Given the description of an element on the screen output the (x, y) to click on. 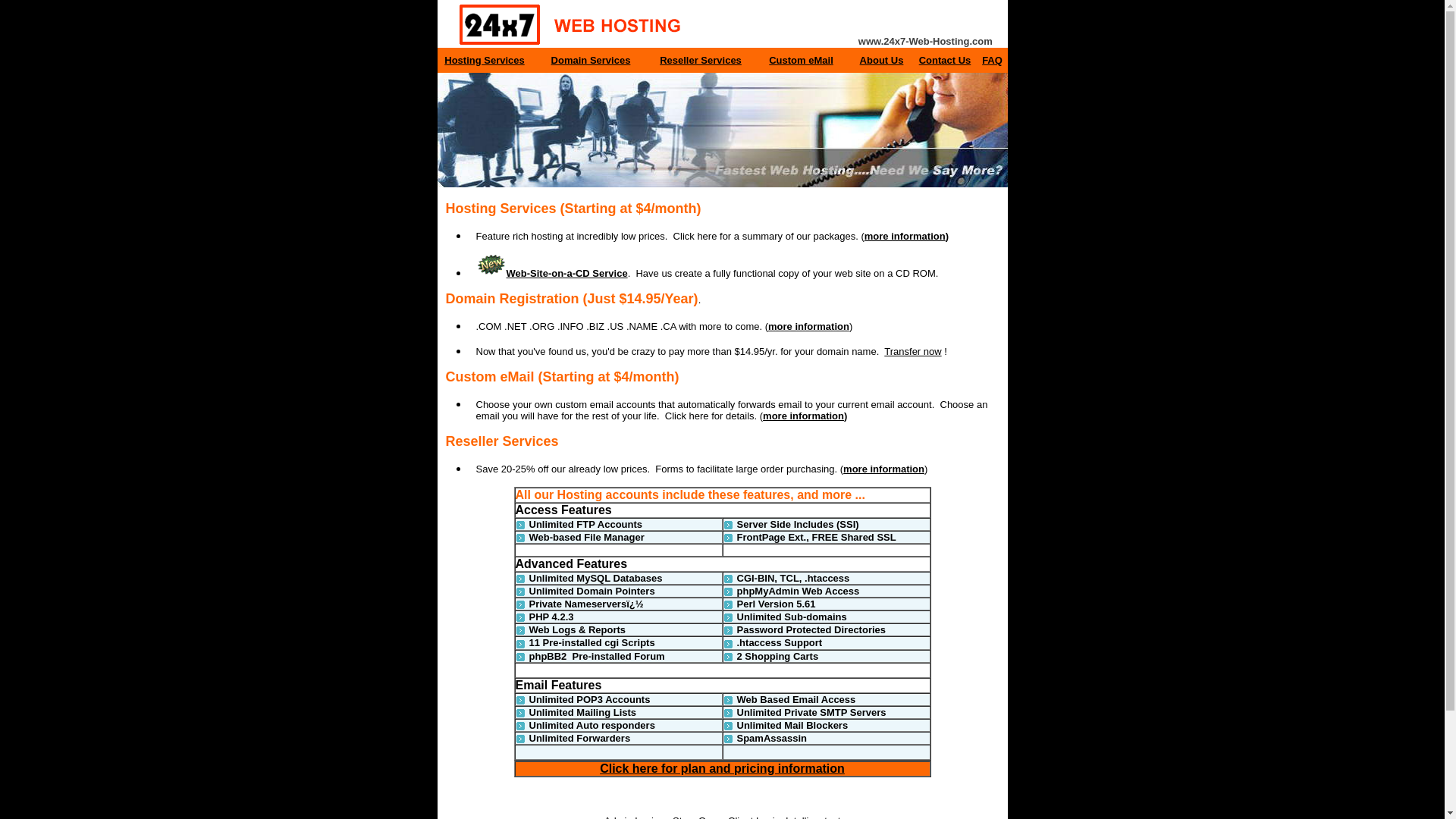
About Us Element type: text (881, 59)
Reseller Services Element type: text (700, 59)
Click here for plan and pricing information Element type: text (721, 768)
more information Element type: text (904, 235)
FAQ Element type: text (992, 59)
Web-Site-on-a-CD Service Element type: text (551, 273)
Transfer now Element type: text (912, 351)
more information Element type: text (883, 468)
Hosting Services Element type: text (484, 59)
Contact Us Element type: text (945, 59)
Domain Services Element type: text (590, 59)
more information Element type: text (803, 415)
Custom eMail Element type: text (800, 59)
more information Element type: text (808, 326)
